Given the description of an element on the screen output the (x, y) to click on. 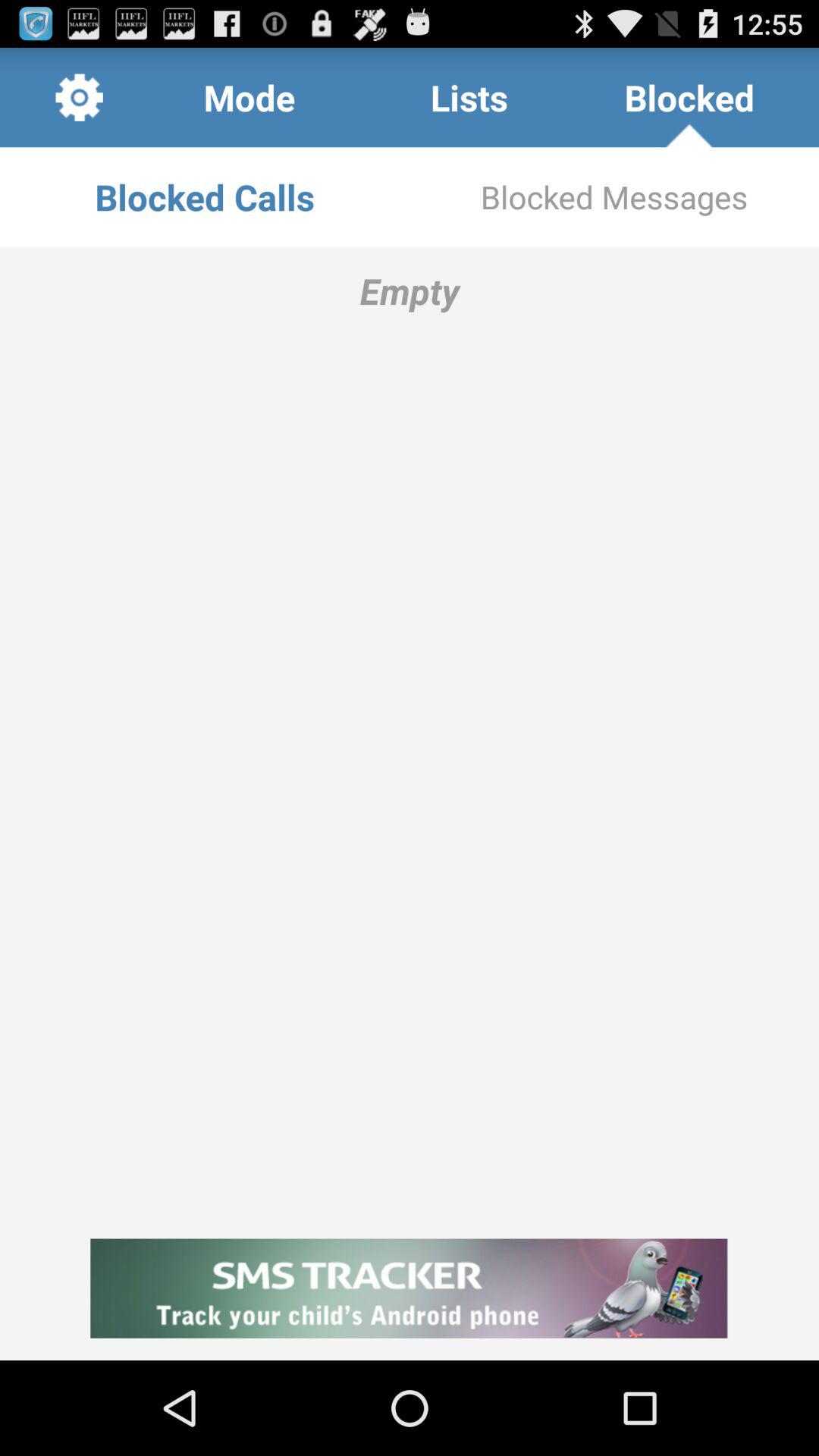
click the icon above blocked calls item (469, 97)
